Given the description of an element on the screen output the (x, y) to click on. 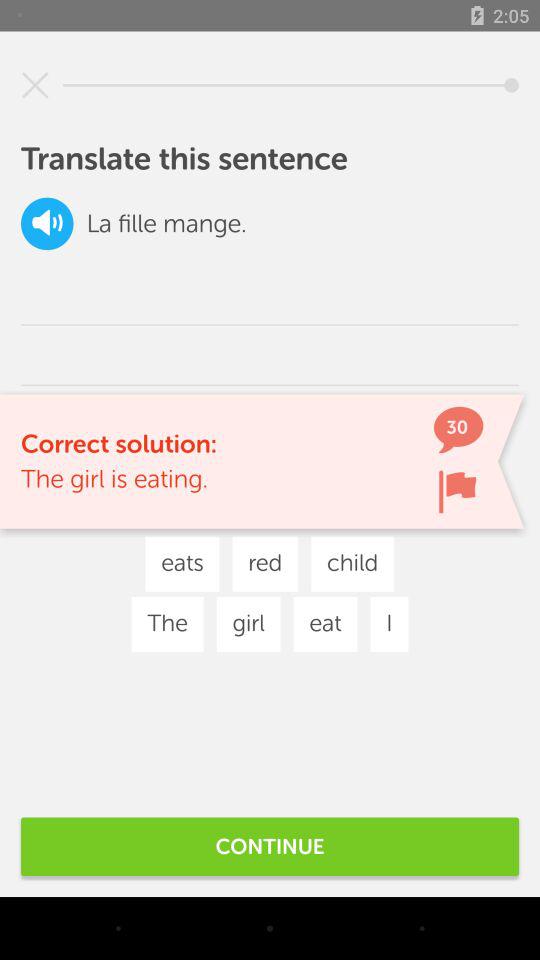
flag button (457, 491)
